Given the description of an element on the screen output the (x, y) to click on. 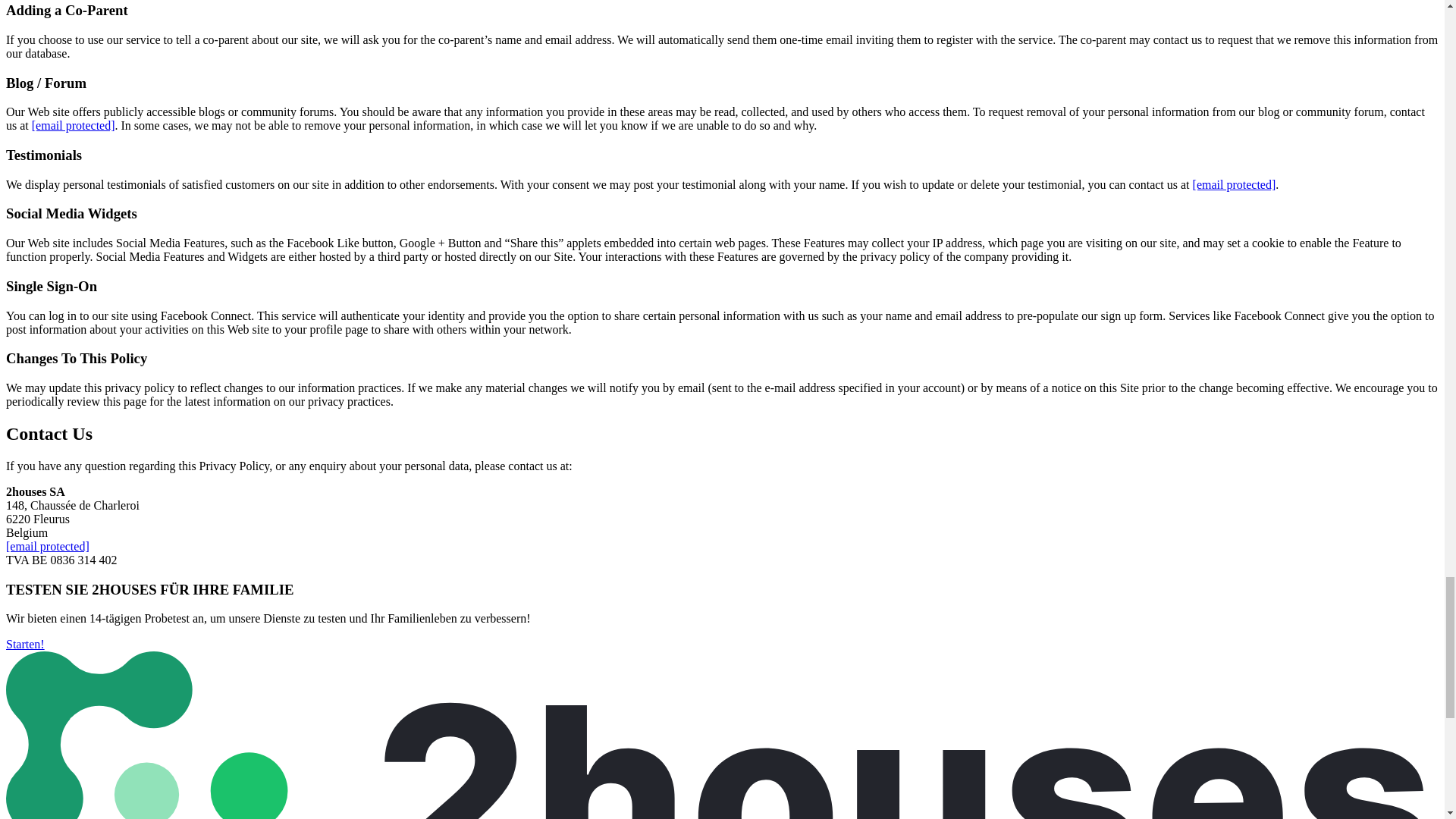
Starten! (25, 644)
